Given the description of an element on the screen output the (x, y) to click on. 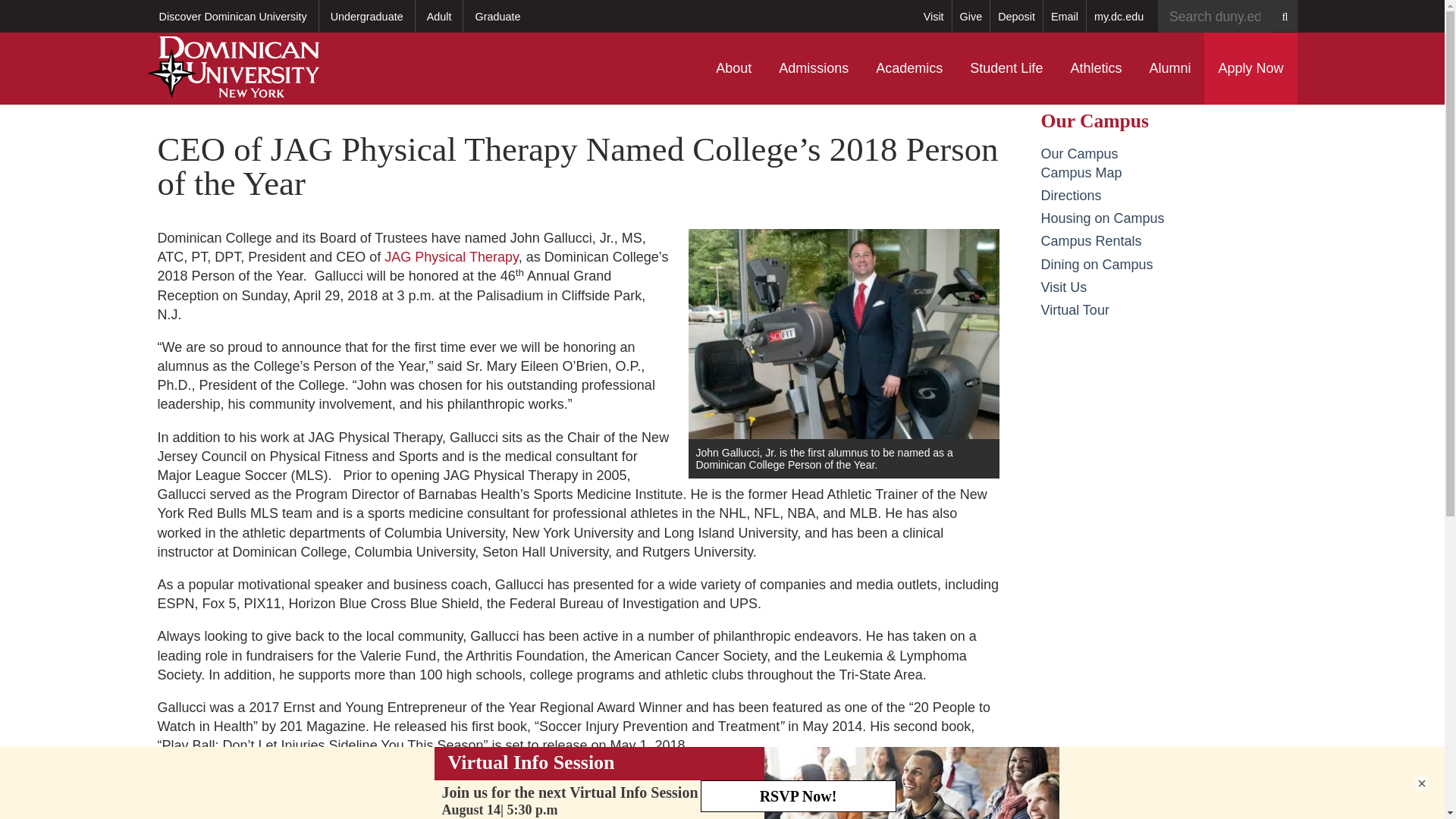
Email (1064, 15)
my.dc.edu (1118, 15)
Visit (933, 15)
Adult (438, 15)
Discover Dominican University (232, 15)
Give (971, 15)
Graduate (497, 15)
Undergraduate (366, 15)
Email (1064, 15)
Deposit (1016, 15)
